Given the description of an element on the screen output the (x, y) to click on. 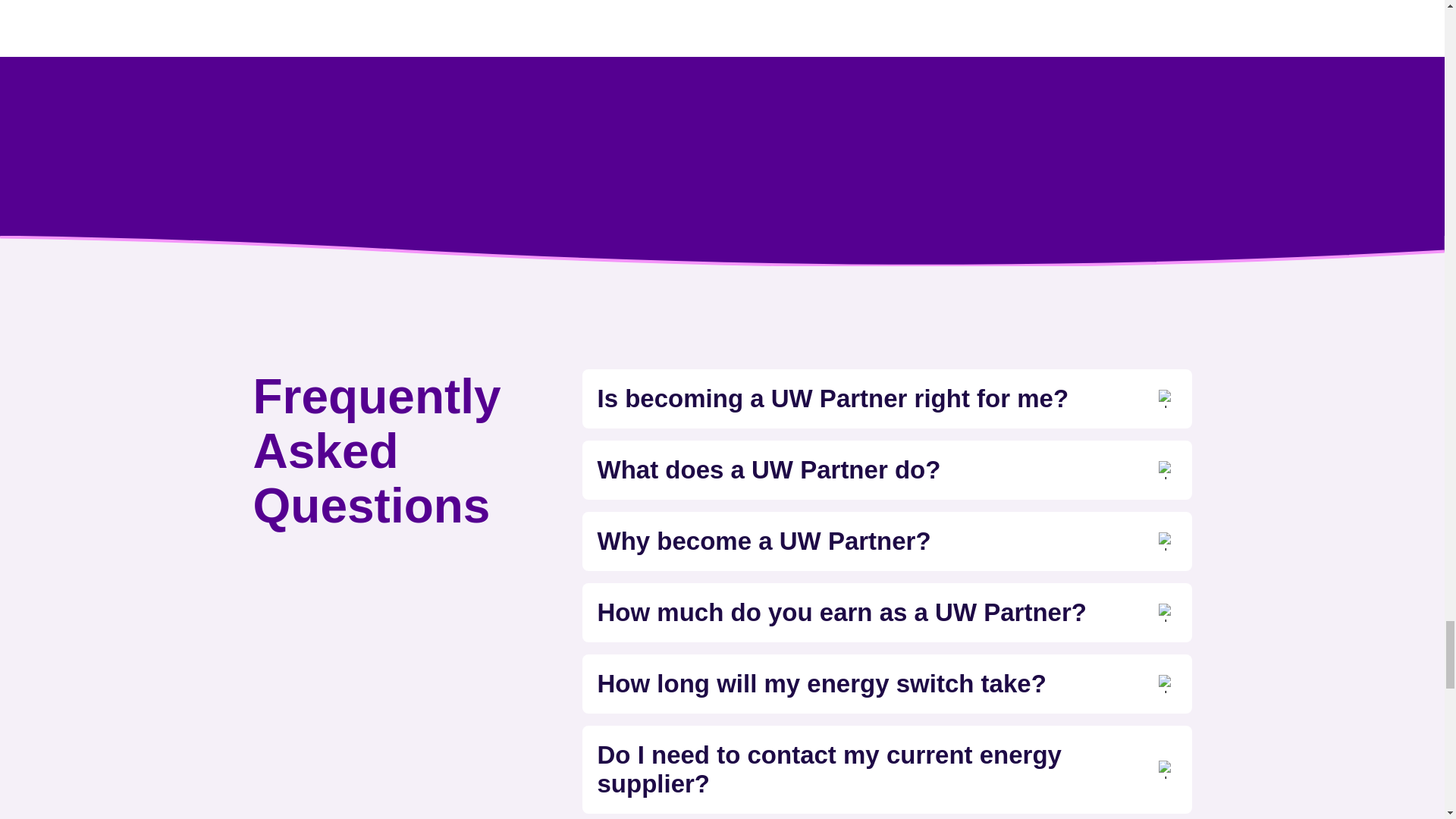
How long will my energy switch take? (886, 683)
How much do you earn as a UW Partner? (886, 612)
What does a UW Partner do? (886, 469)
Get in touch (323, 20)
Is becoming a UW Partner right for me? (886, 398)
Why become a UW Partner? (886, 541)
Do I need to contact my current energy supplier? (886, 769)
